Given the description of an element on the screen output the (x, y) to click on. 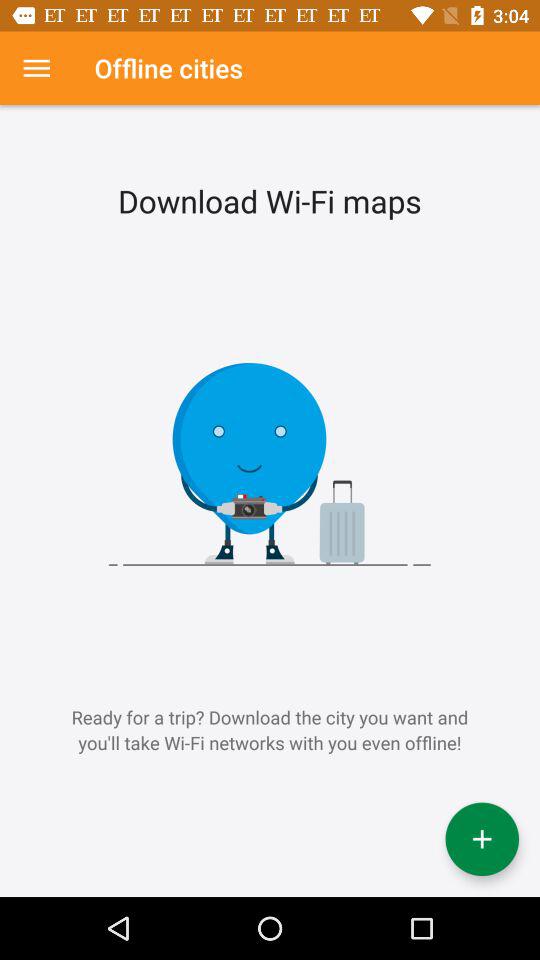
expand the menu of options for offline cities in an maps application (36, 68)
